Given the description of an element on the screen output the (x, y) to click on. 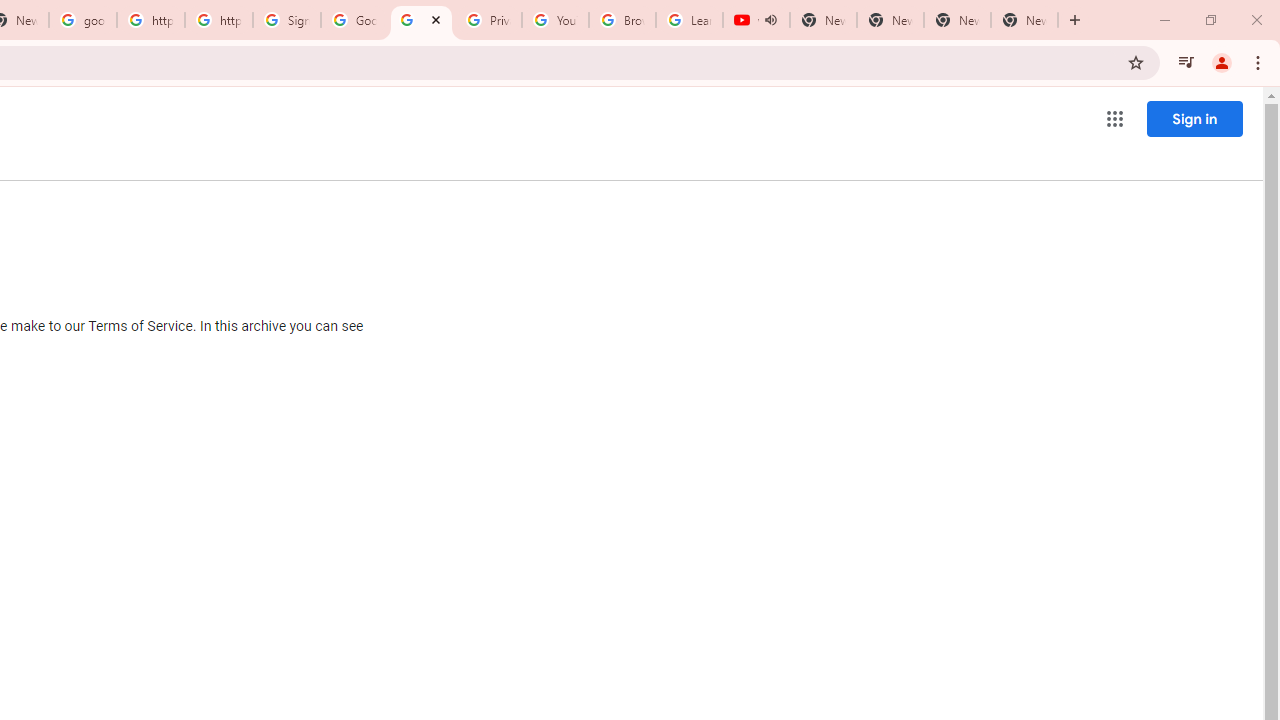
https://scholar.google.com/ (219, 20)
https://scholar.google.com/ (150, 20)
YouTube (555, 20)
Sign in - Google Accounts (287, 20)
New Tab (1024, 20)
